Given the description of an element on the screen output the (x, y) to click on. 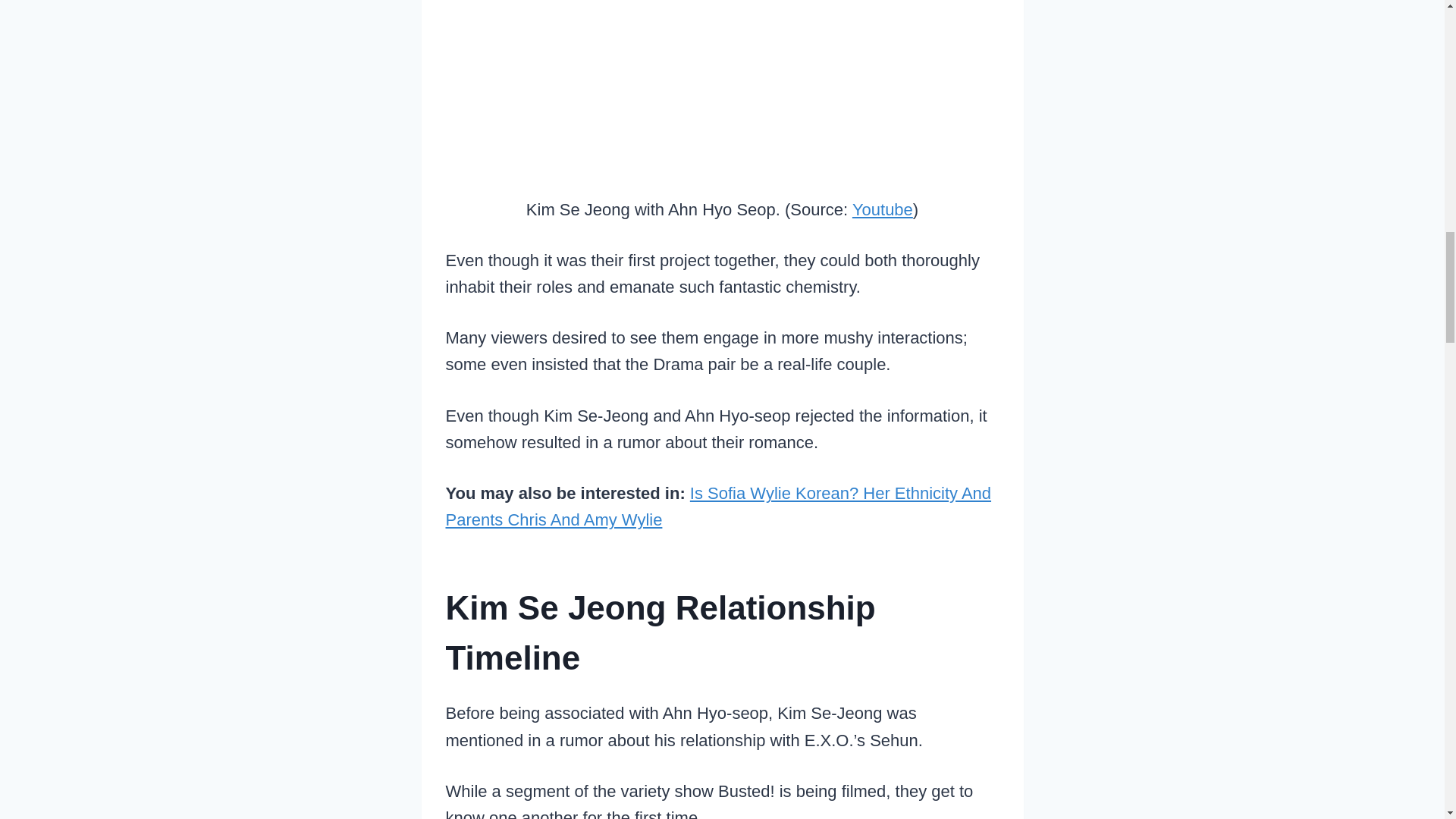
Youtube (881, 209)
